Given the description of an element on the screen output the (x, y) to click on. 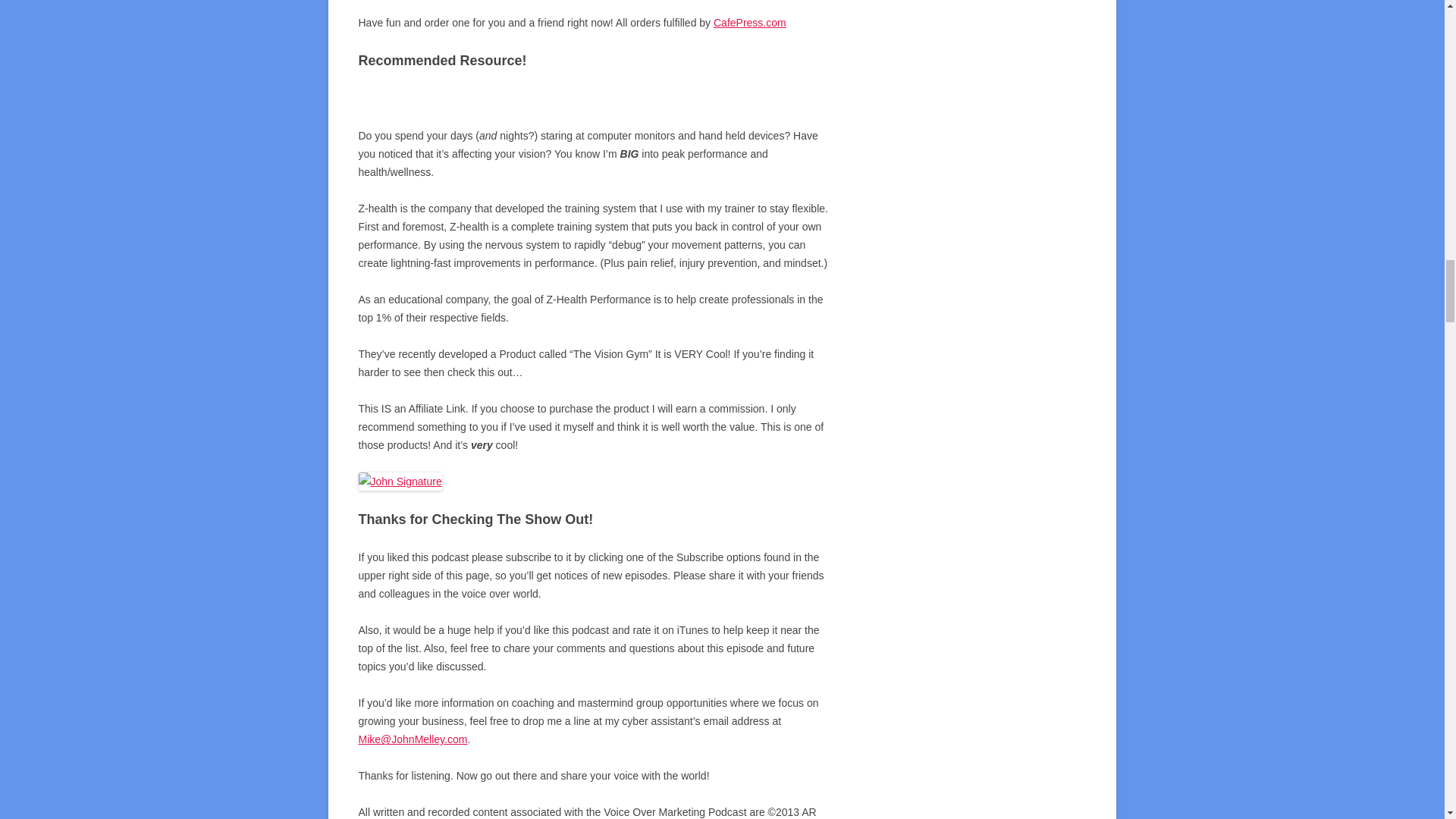
CafePress.com (749, 22)
